Given the description of an element on the screen output the (x, y) to click on. 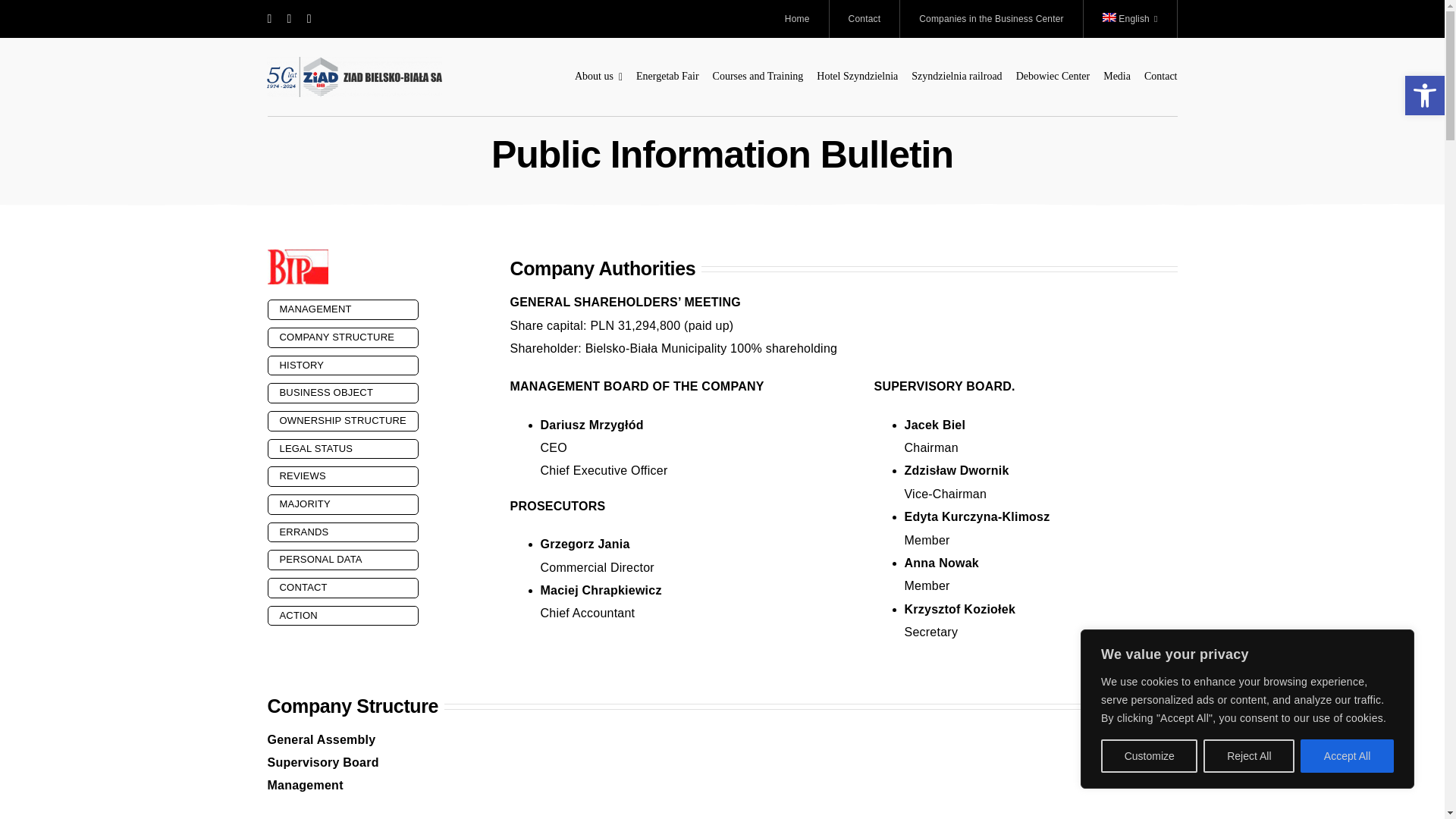
Accessibility Tools (1424, 95)
Contact (865, 18)
bib (296, 266)
About us (599, 77)
English (1130, 18)
Customize (1148, 756)
Companies in the Business Center (991, 18)
English (1130, 18)
Home (797, 18)
Reject All (1249, 756)
